Given the description of an element on the screen output the (x, y) to click on. 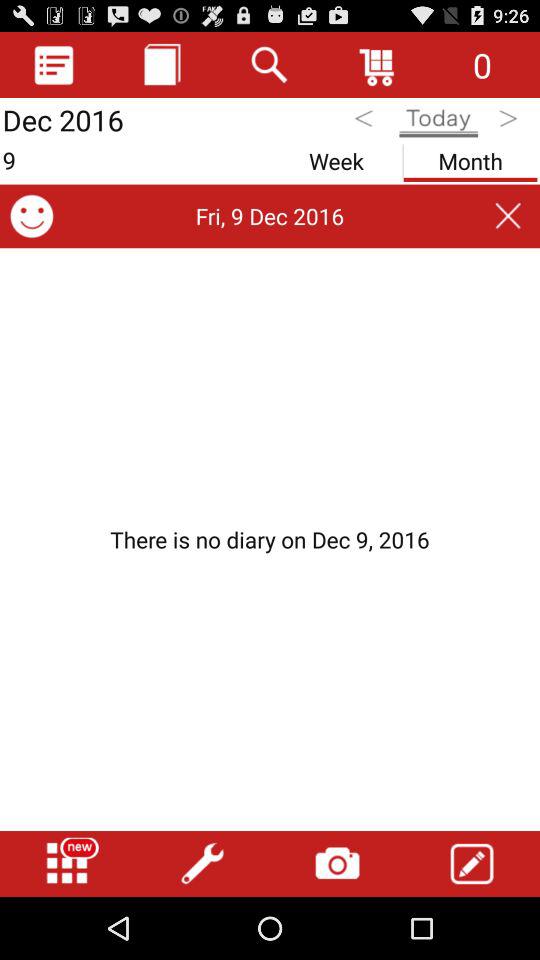
post of the selected day (270, 539)
